Given the description of an element on the screen output the (x, y) to click on. 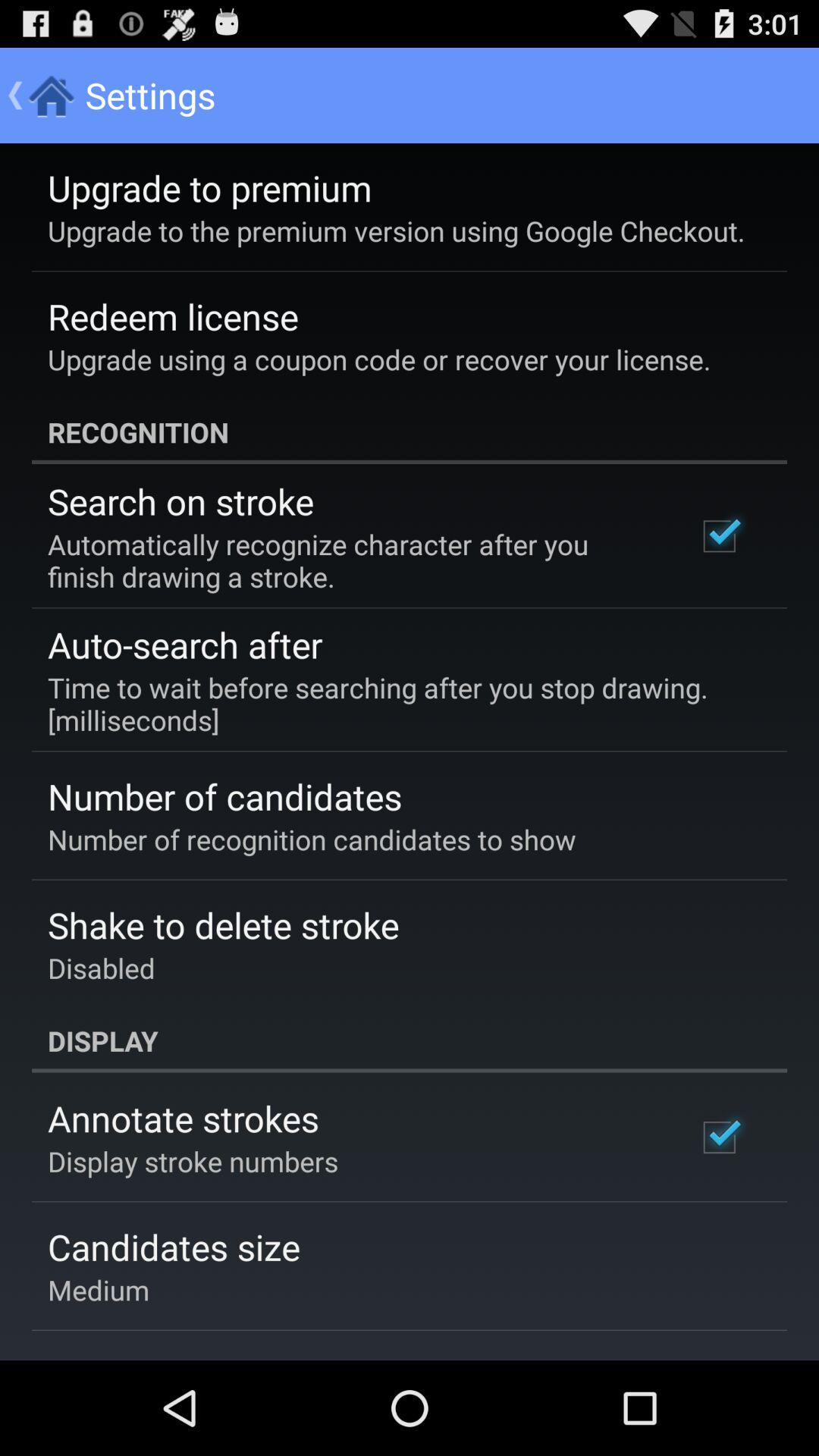
scroll to automatically recognize character icon (351, 560)
